Given the description of an element on the screen output the (x, y) to click on. 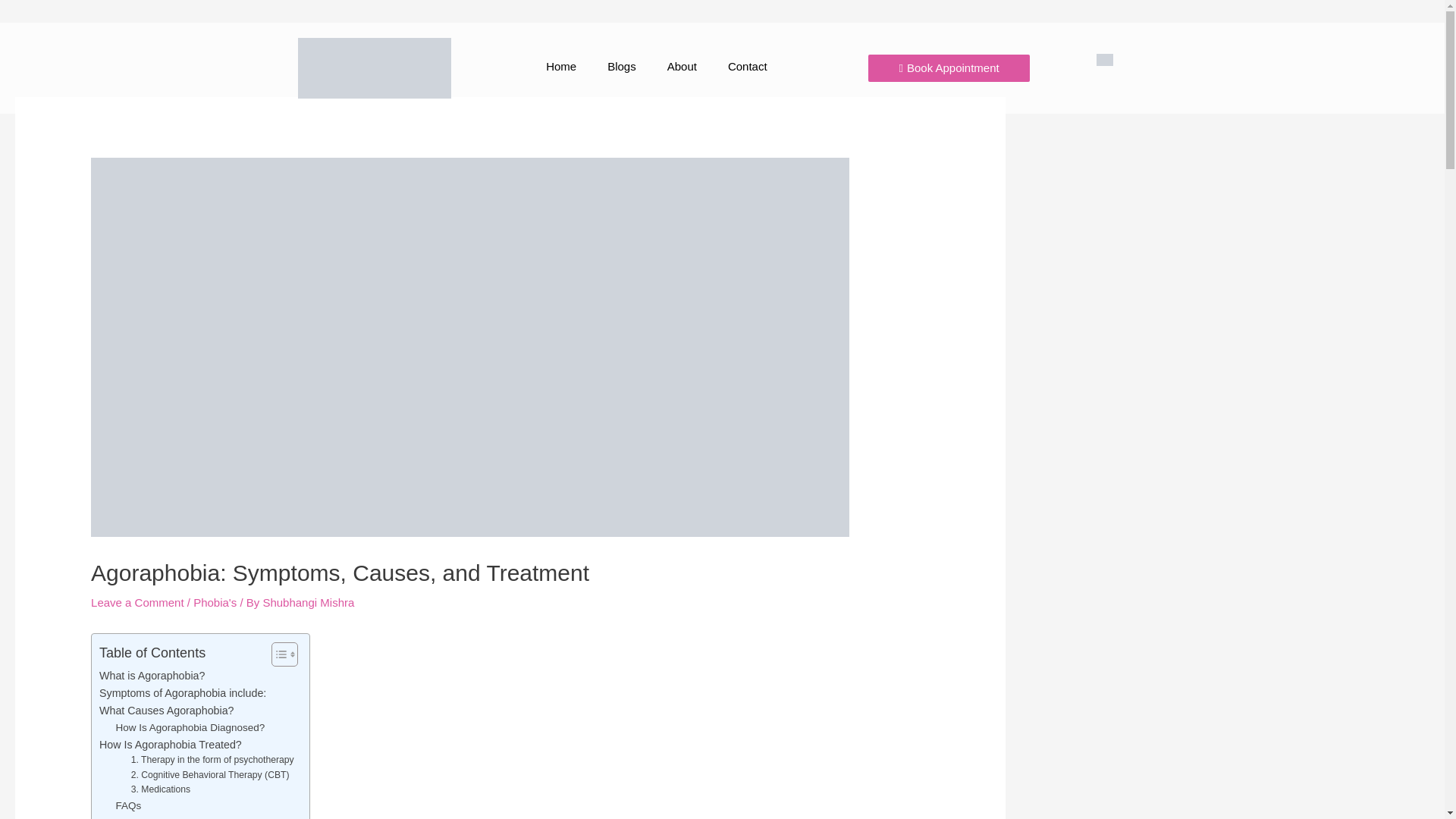
1. Therapy in the form of psychotherapy (212, 760)
What Causes Agoraphobia? (165, 710)
How Is Agoraphobia Diagnosed?  (189, 727)
View all posts by Shubhangi Mishra (307, 602)
Contact (747, 66)
Symptoms of Agoraphobia include: (182, 692)
Home (561, 66)
3. Medications (160, 789)
What Causes Agoraphobia?  (165, 710)
Shubhangi Mishra (307, 602)
